Given the description of an element on the screen output the (x, y) to click on. 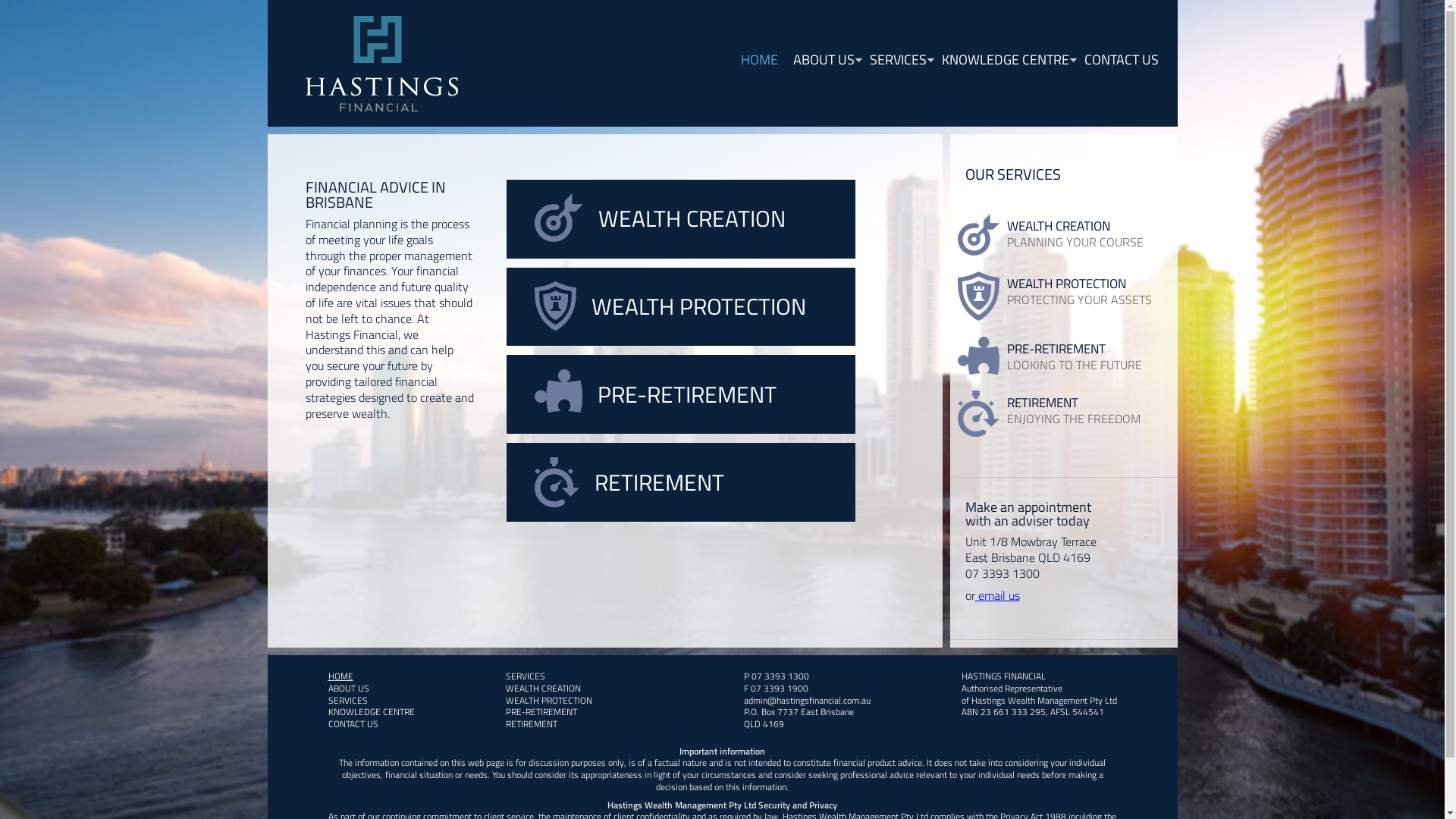
PRE-RETIREMENT Element type: text (540, 711)
HOME Element type: text (758, 59)
admin@hastingsfinancial.com.au Element type: text (806, 700)
PRE-RETIREMENT Element type: text (680, 393)
PRE-RETIREMENT
LOOKING TO THE FUTURE Element type: text (1062, 355)
RETIREMENT Element type: text (530, 723)
ABOUT US Element type: text (347, 687)
email us Element type: text (997, 595)
OUR SERVICES Element type: text (1062, 178)
CONTACT US Element type: text (352, 723)
HOME Element type: text (339, 675)
SERVICES Element type: text (347, 700)
WEALTH PROTECTION
PROTECTING YOUR ASSETS Element type: text (1062, 295)
SERVICES Element type: text (524, 675)
RETIREMENT Element type: text (680, 481)
CONTACT US Element type: text (1117, 59)
WEALTH CREATION
PLANNING YOUR COURSE Element type: text (1062, 234)
WEALTH PROTECTION Element type: text (548, 700)
Home Element type: hover (380, 63)
WEALTH CREATION Element type: text (542, 687)
RETIREMENT
ENJOYING THE FREEDOM Element type: text (1062, 413)
Jump to navigation Element type: text (722, 2)
KNOWLEDGE CENTRE Element type: text (370, 711)
WEALTH PROTECTION Element type: text (680, 306)
WEALTH CREATION Element type: text (680, 218)
